Given the description of an element on the screen output the (x, y) to click on. 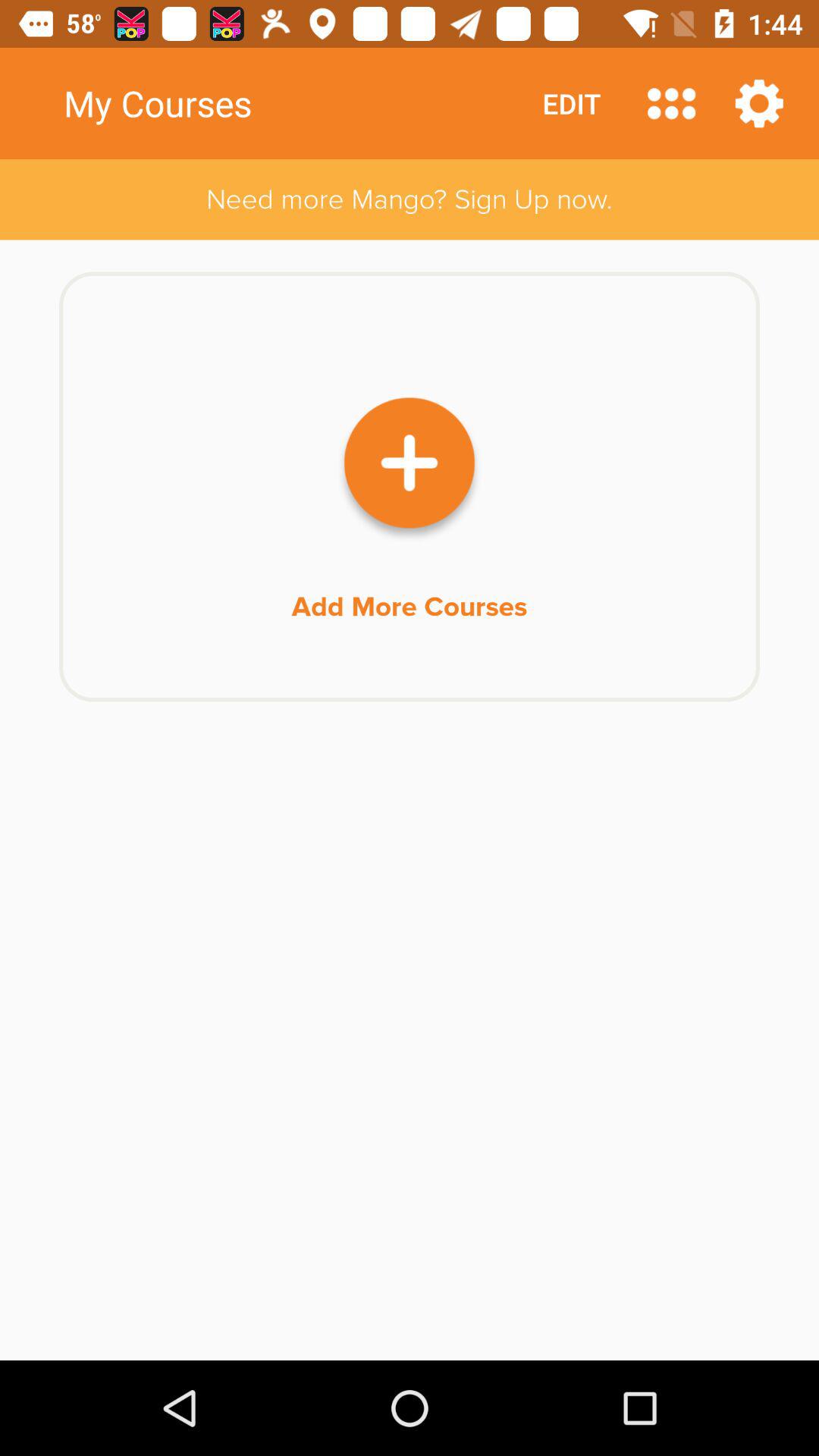
press the item to the right of my courses (671, 103)
